Given the description of an element on the screen output the (x, y) to click on. 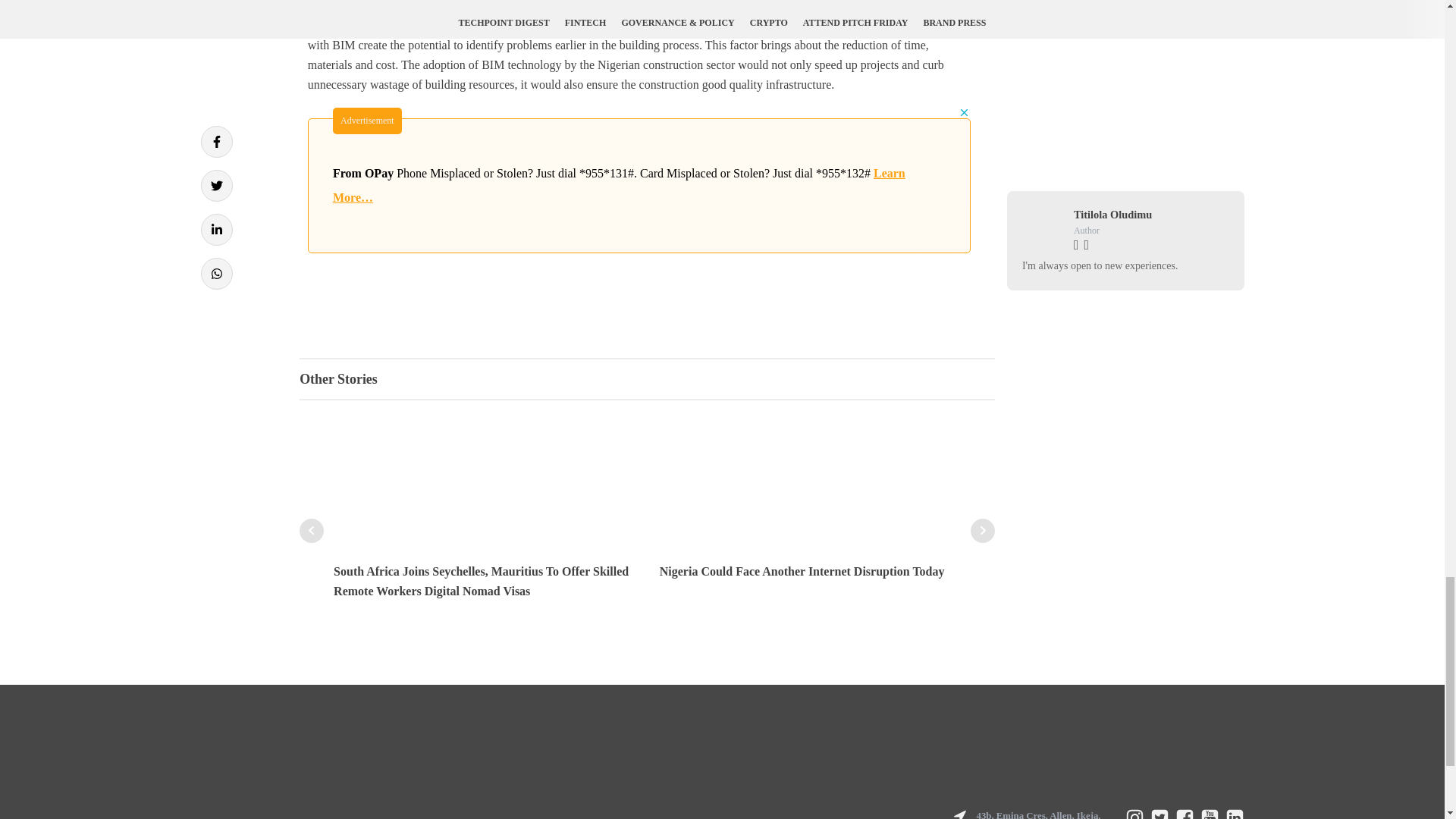
Titilola Oludimu (1112, 214)
3rd party ad content (639, 194)
